Given the description of an element on the screen output the (x, y) to click on. 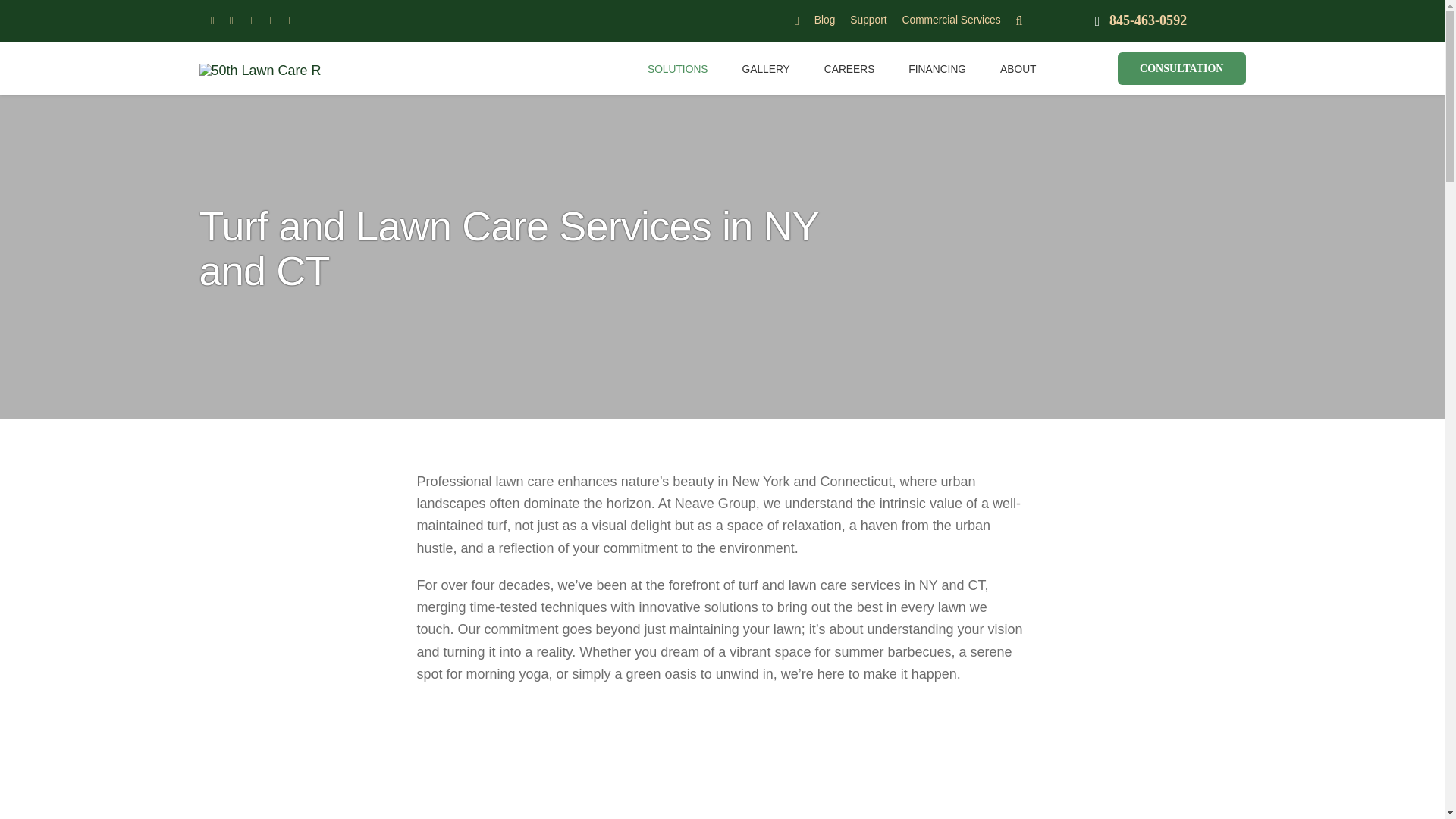
845-463-0592 (1139, 20)
Support (868, 20)
Commercial Services (951, 20)
SOLUTIONS (677, 67)
Blog (824, 20)
